Given the description of an element on the screen output the (x, y) to click on. 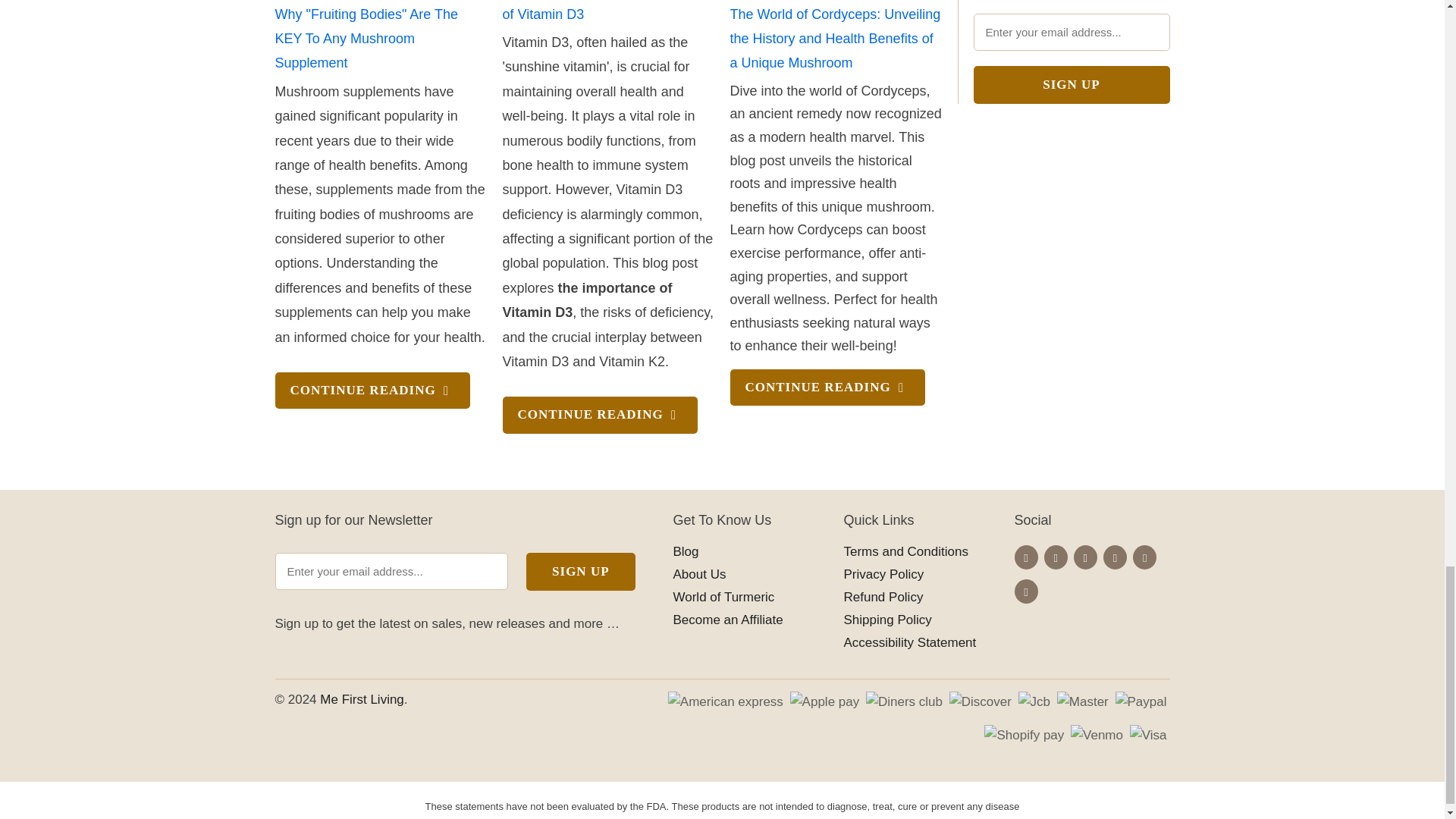
Sign Up (579, 571)
Sign Up (1072, 85)
